Given the description of an element on the screen output the (x, y) to click on. 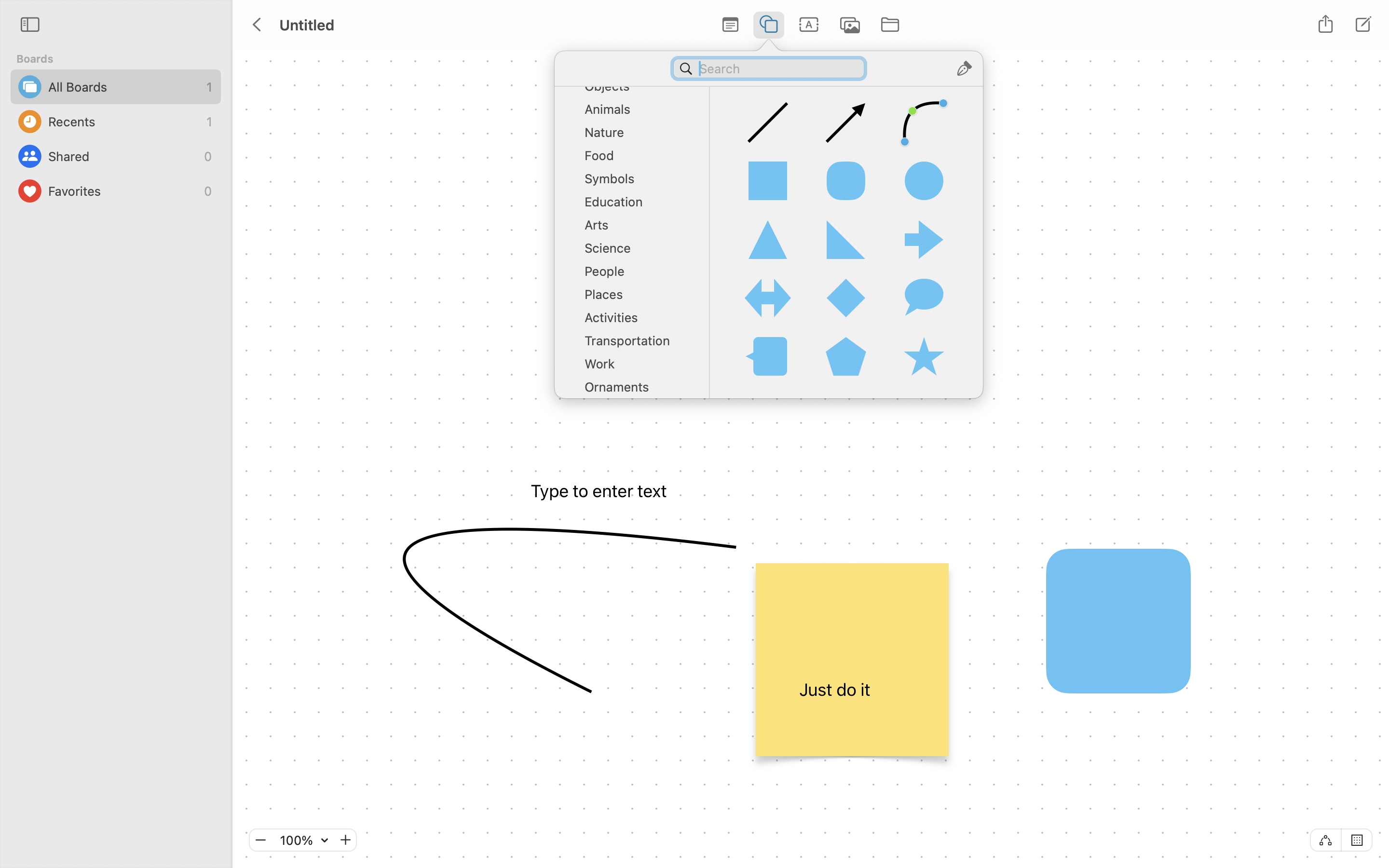
Animals Element type: AXStaticText (636, 112)
Geometry Element type: AXStaticText (636, 66)
Off Element type: AXButton (1324, 839)
Arts Element type: AXStaticText (636, 228)
Objects Element type: AXStaticText (636, 89)
